Given the description of an element on the screen output the (x, y) to click on. 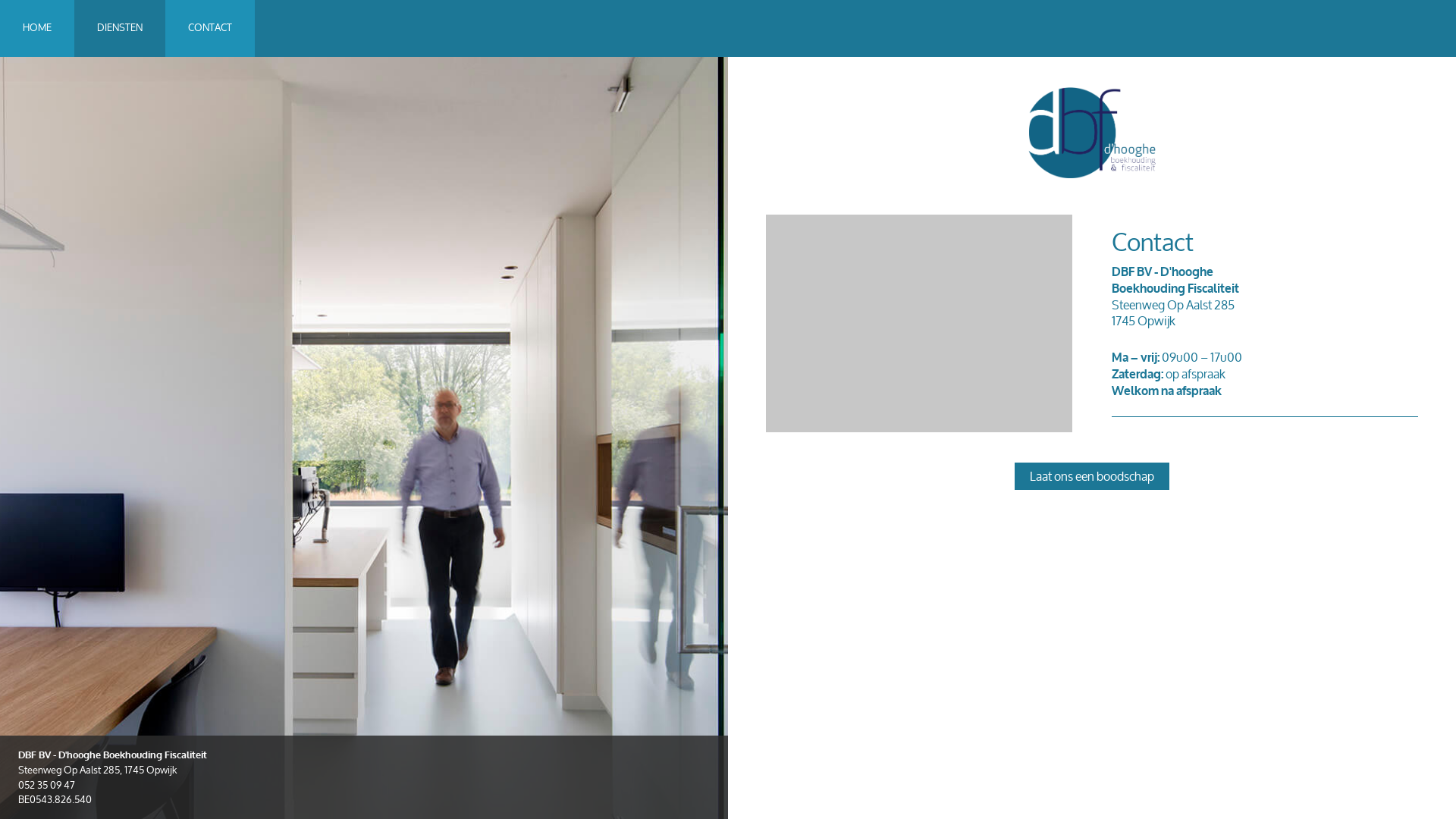
CONTACT Element type: text (209, 28)
DIENSTEN Element type: text (119, 28)
Laat ons een boodschap Element type: text (1091, 475)
HOME Element type: text (37, 28)
